Given the description of an element on the screen output the (x, y) to click on. 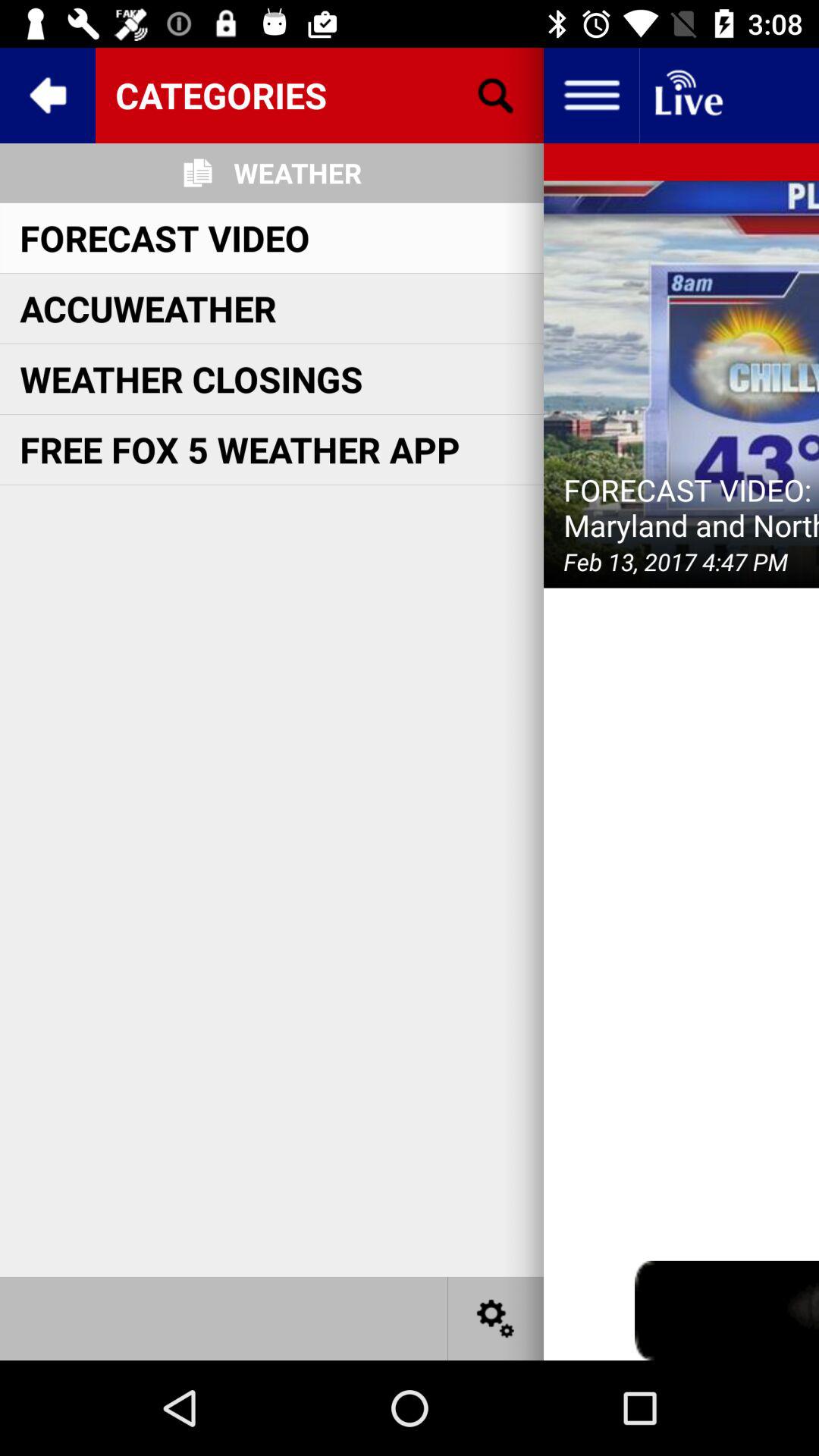
go to settings (495, 1318)
